Given the description of an element on the screen output the (x, y) to click on. 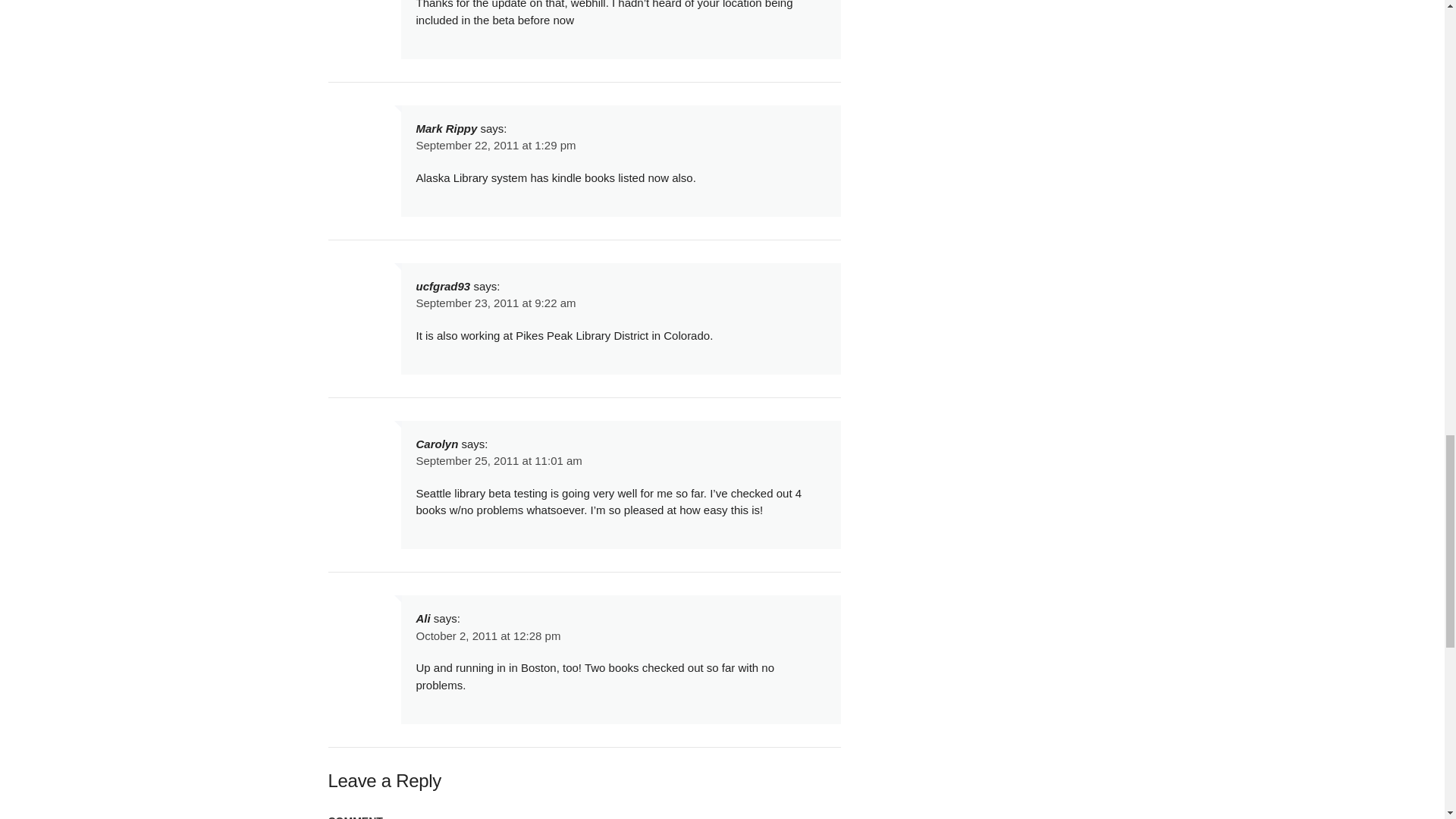
September 23, 2011 at 9:22 am (494, 302)
September 22, 2011 at 1:29 pm (494, 144)
September 25, 2011 at 11:01 am (497, 460)
